Given the description of an element on the screen output the (x, y) to click on. 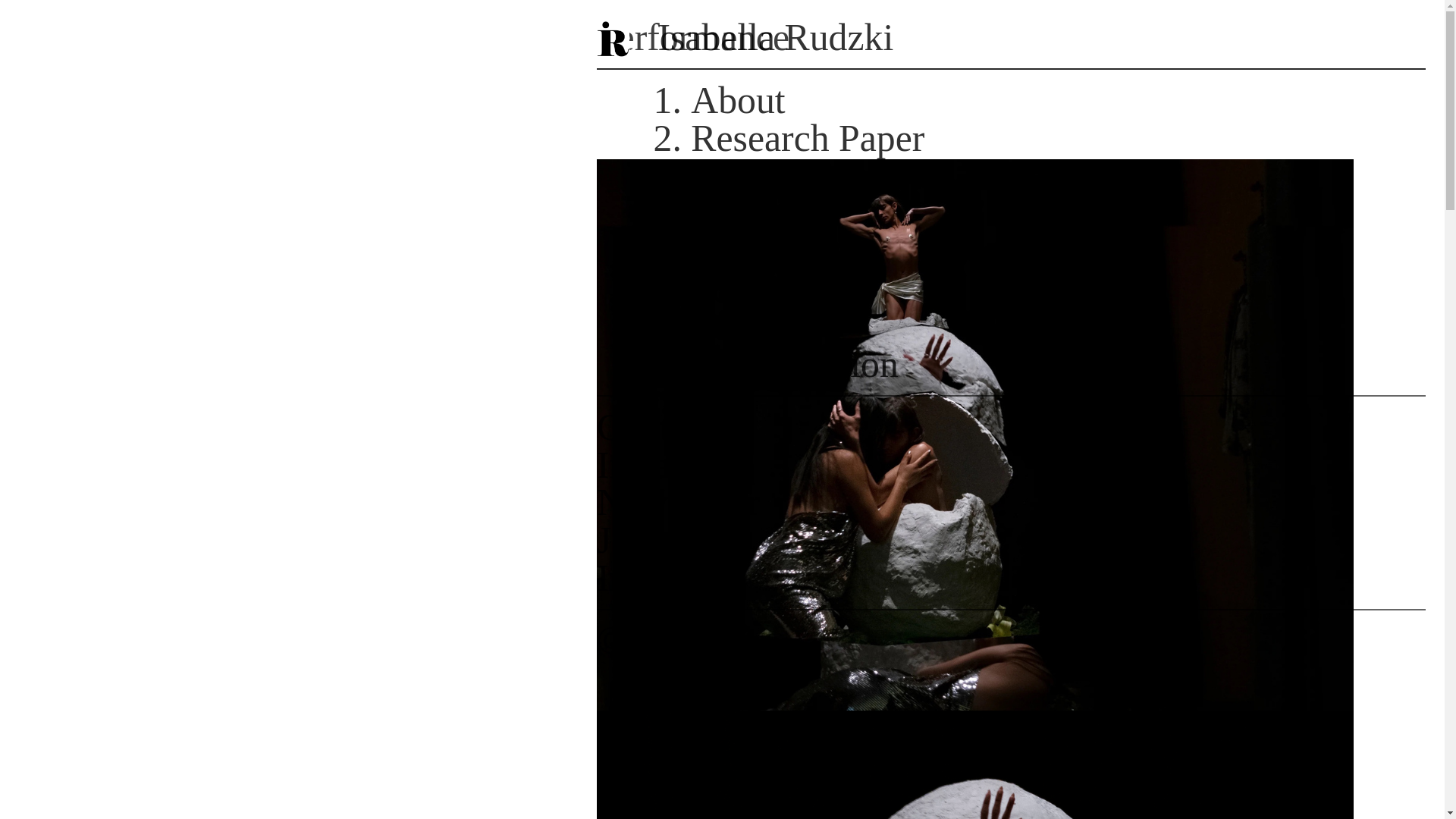
Development (791, 175)
Accessories (780, 250)
   Isabella Rudzki (1010, 40)
Collaboration (794, 363)
Jobs (629, 540)
Instagram (672, 465)
Newsletter (678, 502)
Features (754, 326)
Contact (655, 426)
Imprint (653, 577)
